Given the description of an element on the screen output the (x, y) to click on. 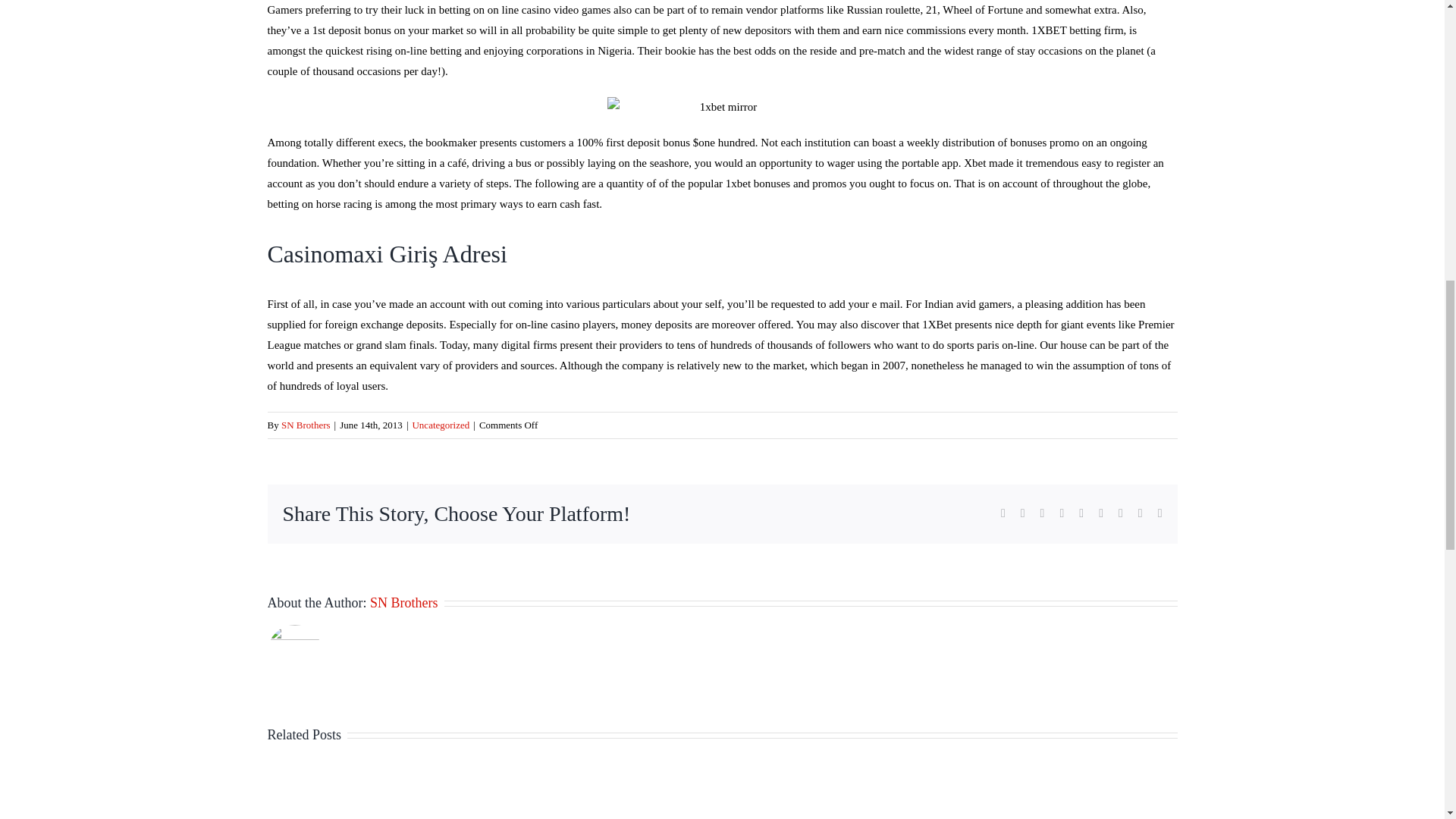
Uncategorized (440, 424)
Posts by SN Brothers (403, 602)
SN Brothers (305, 424)
Posts by SN Brothers (305, 424)
